Given the description of an element on the screen output the (x, y) to click on. 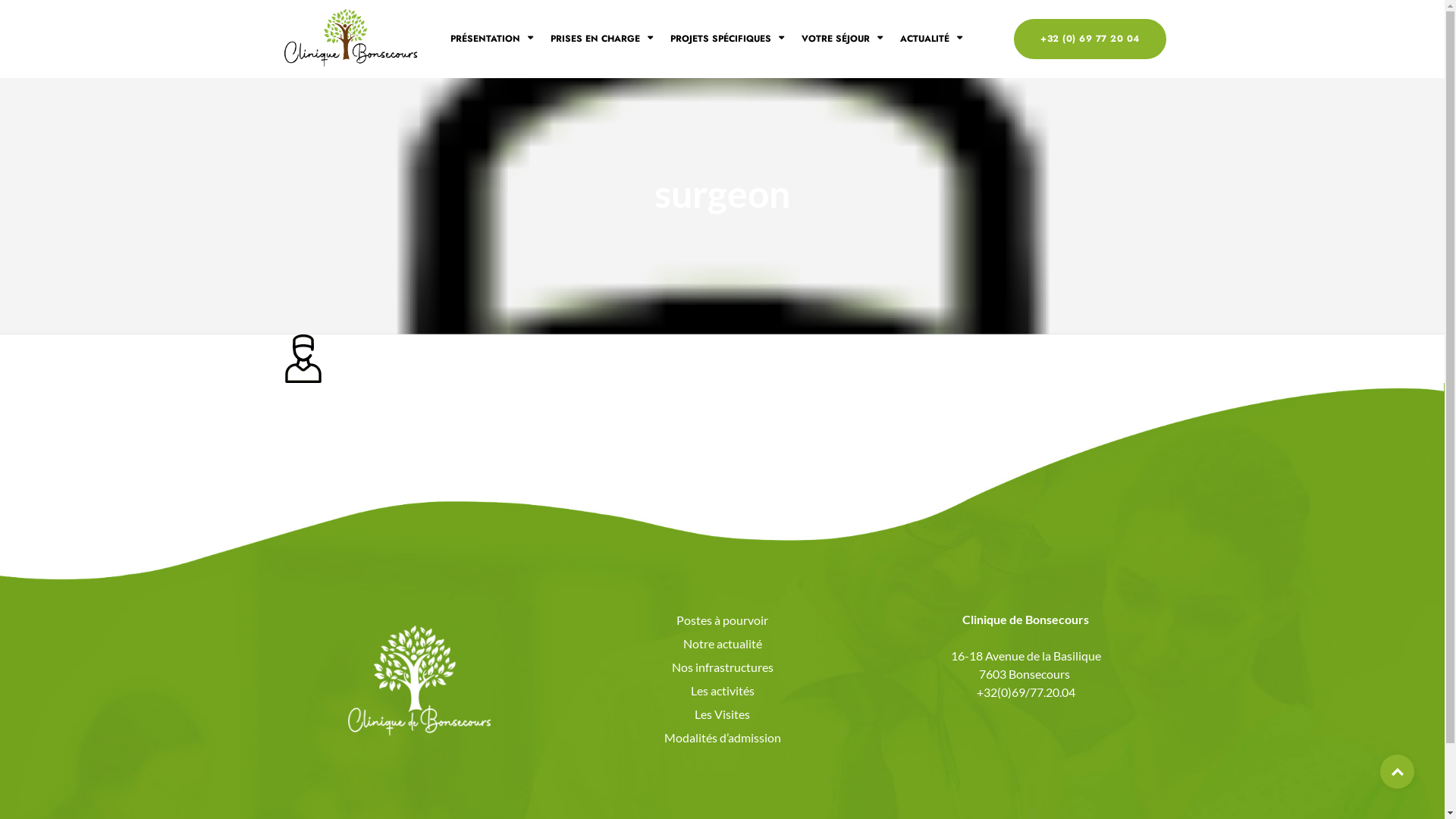
Se connecter Element type: text (632, 494)
Search Element type: text (56, 18)
+32 (0) 69 77 20 04 Element type: text (1089, 38)
Nos infrastructures Element type: text (722, 666)
Les Visites Element type: text (722, 713)
PRISES EN CHARGE Element type: text (601, 38)
